Given the description of an element on the screen output the (x, y) to click on. 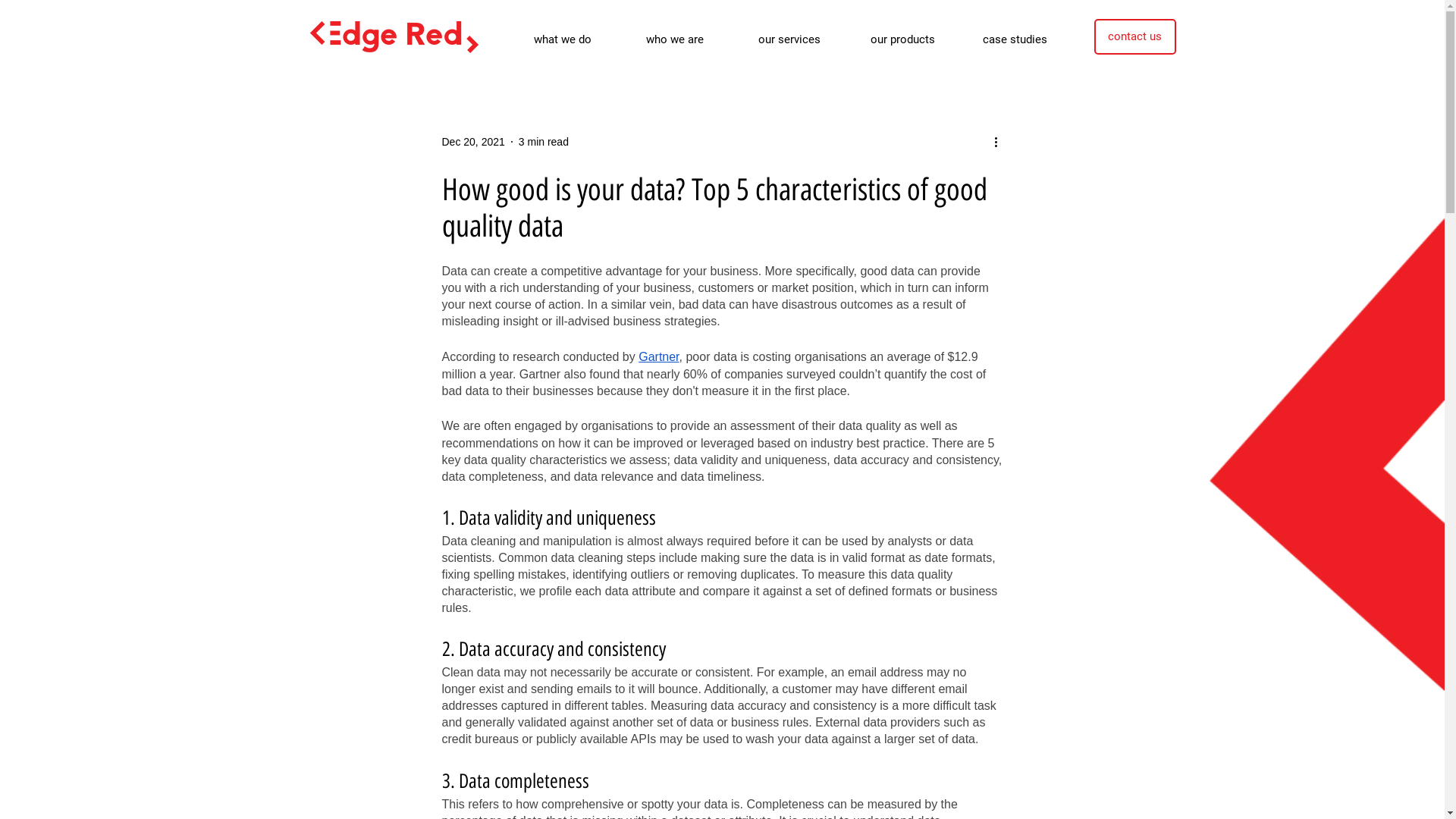
contact us Element type: text (1134, 36)
who we are Element type: text (689, 39)
what we do Element type: text (577, 39)
case studies Element type: text (1026, 39)
our products Element type: text (914, 39)
Gartner Element type: text (658, 356)
our services Element type: text (802, 39)
